Given the description of an element on the screen output the (x, y) to click on. 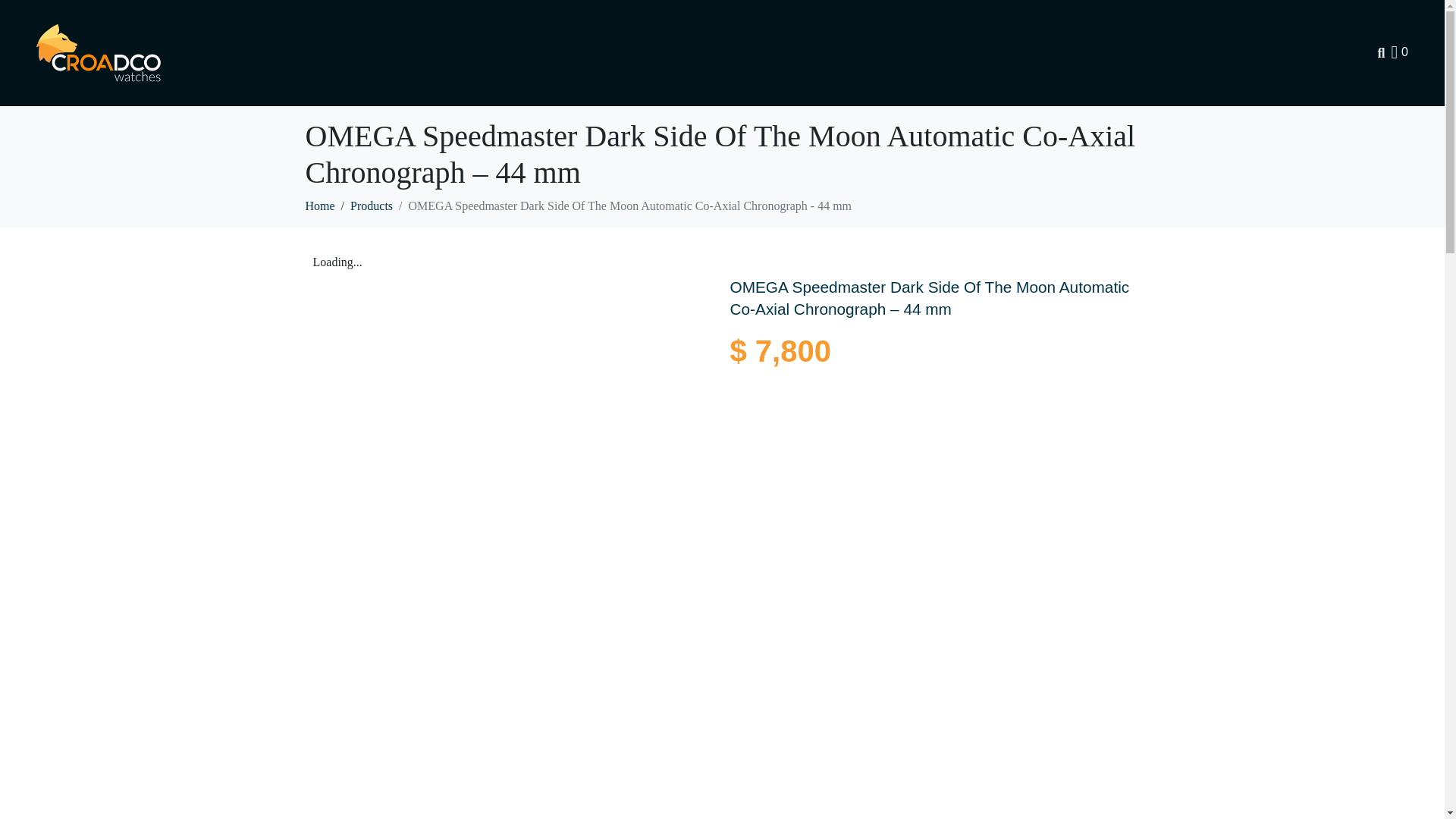
Products (371, 205)
Home (319, 205)
0 (1399, 51)
